Given the description of an element on the screen output the (x, y) to click on. 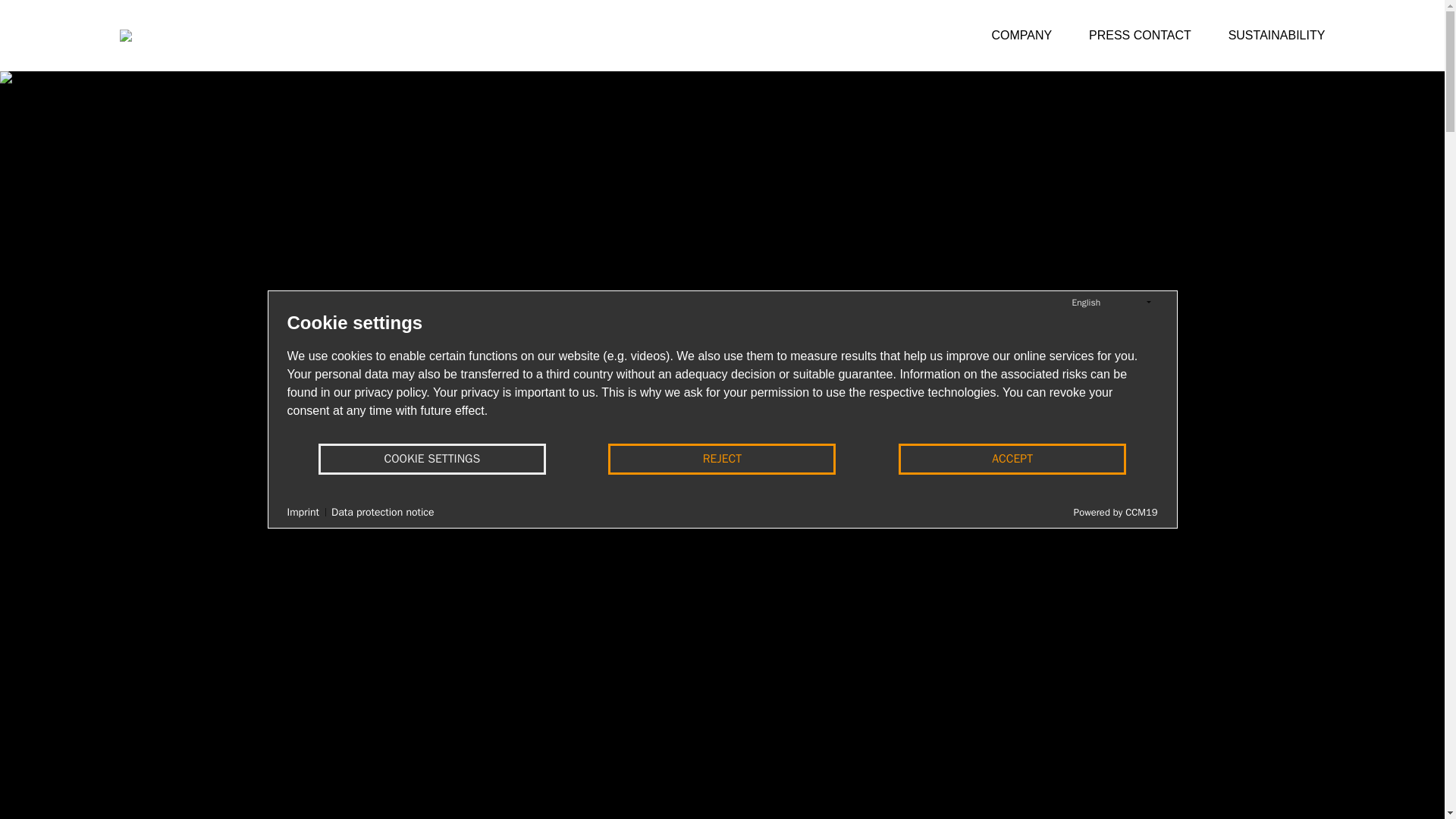
PRESS CONTACT (1140, 35)
SUSTAINABILITY (1276, 35)
COMPANY (1021, 35)
